Given the description of an element on the screen output the (x, y) to click on. 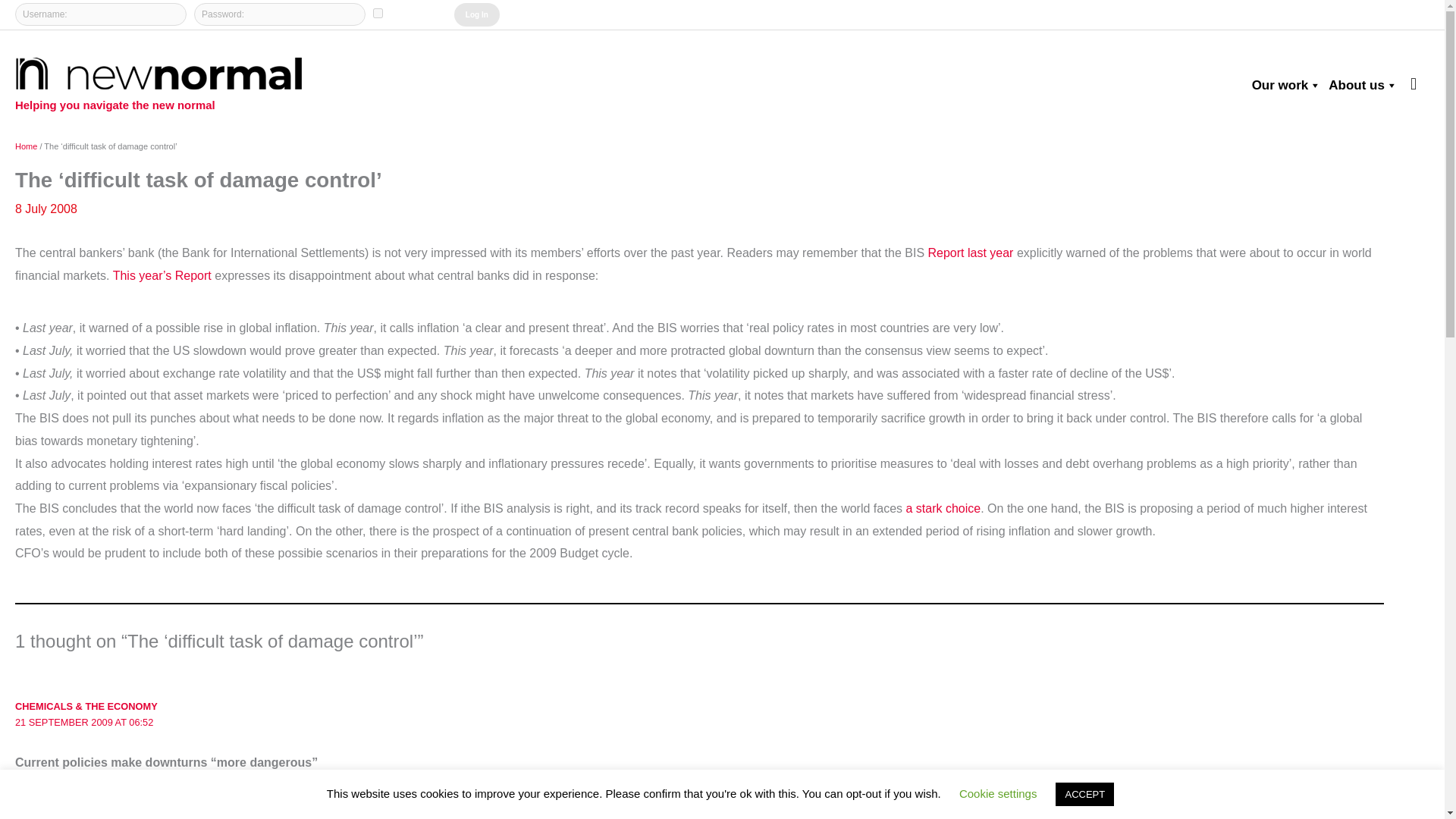
Home (25, 145)
Our work (1283, 85)
21 SEPTEMBER 2009 AT 06:52 (83, 722)
About us (1358, 85)
Cookie settings (997, 793)
Report last year (972, 252)
a stark choice (942, 508)
Log In (476, 14)
ACCEPT (1084, 793)
forever (377, 13)
